Given the description of an element on the screen output the (x, y) to click on. 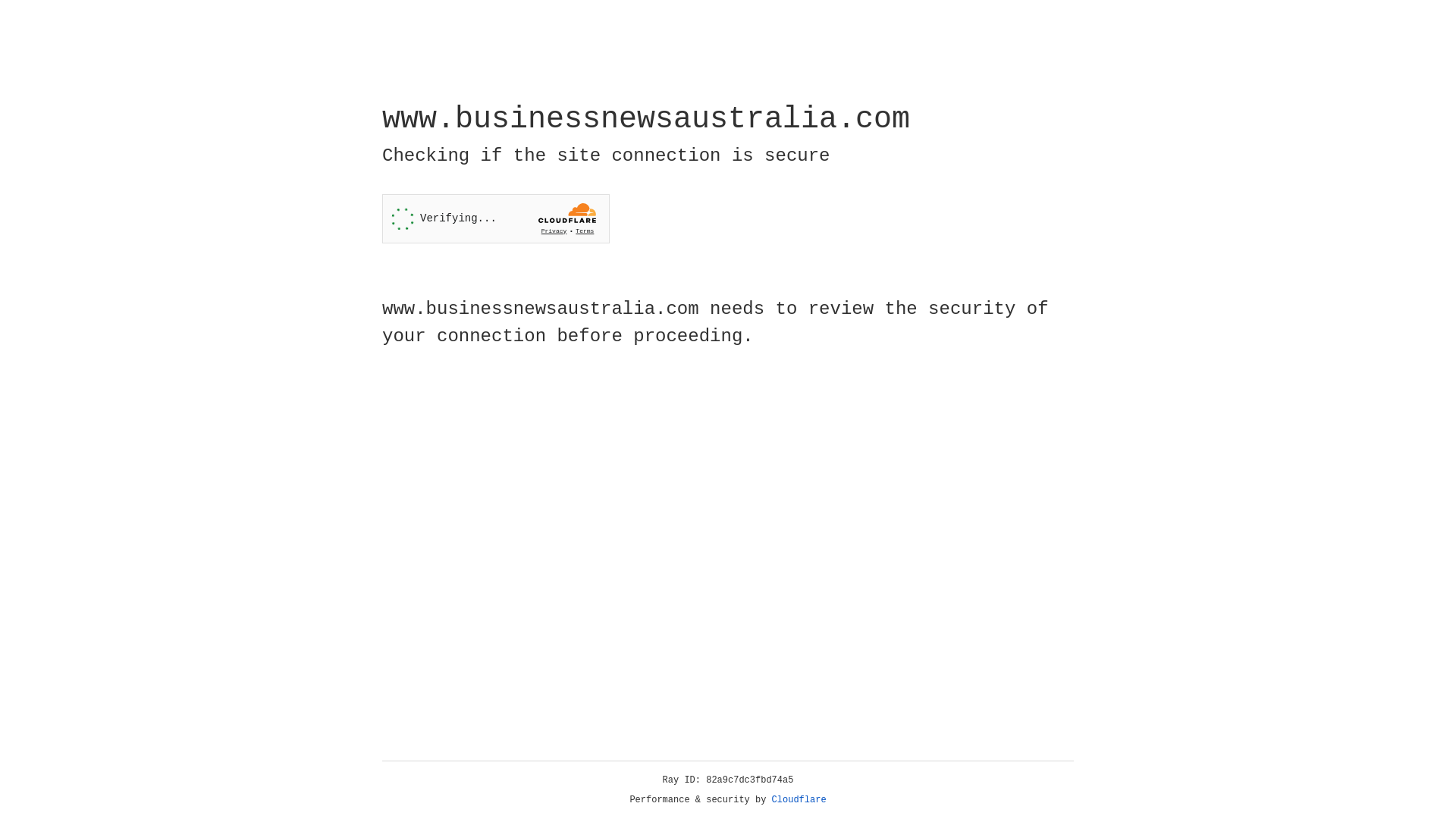
Widget containing a Cloudflare security challenge Element type: hover (495, 218)
Cloudflare Element type: text (798, 799)
